Given the description of an element on the screen output the (x, y) to click on. 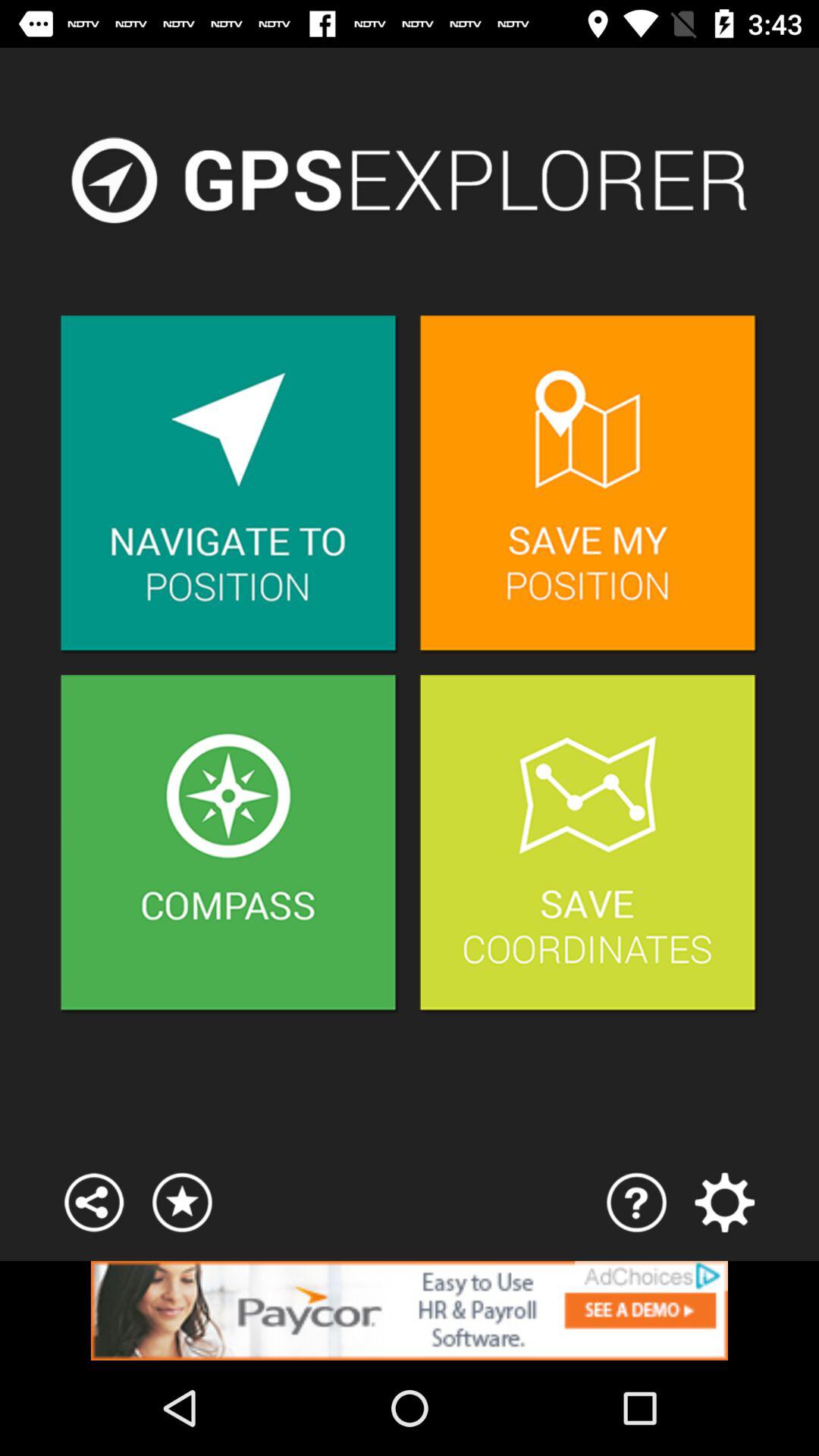
help (636, 1202)
